Given the description of an element on the screen output the (x, y) to click on. 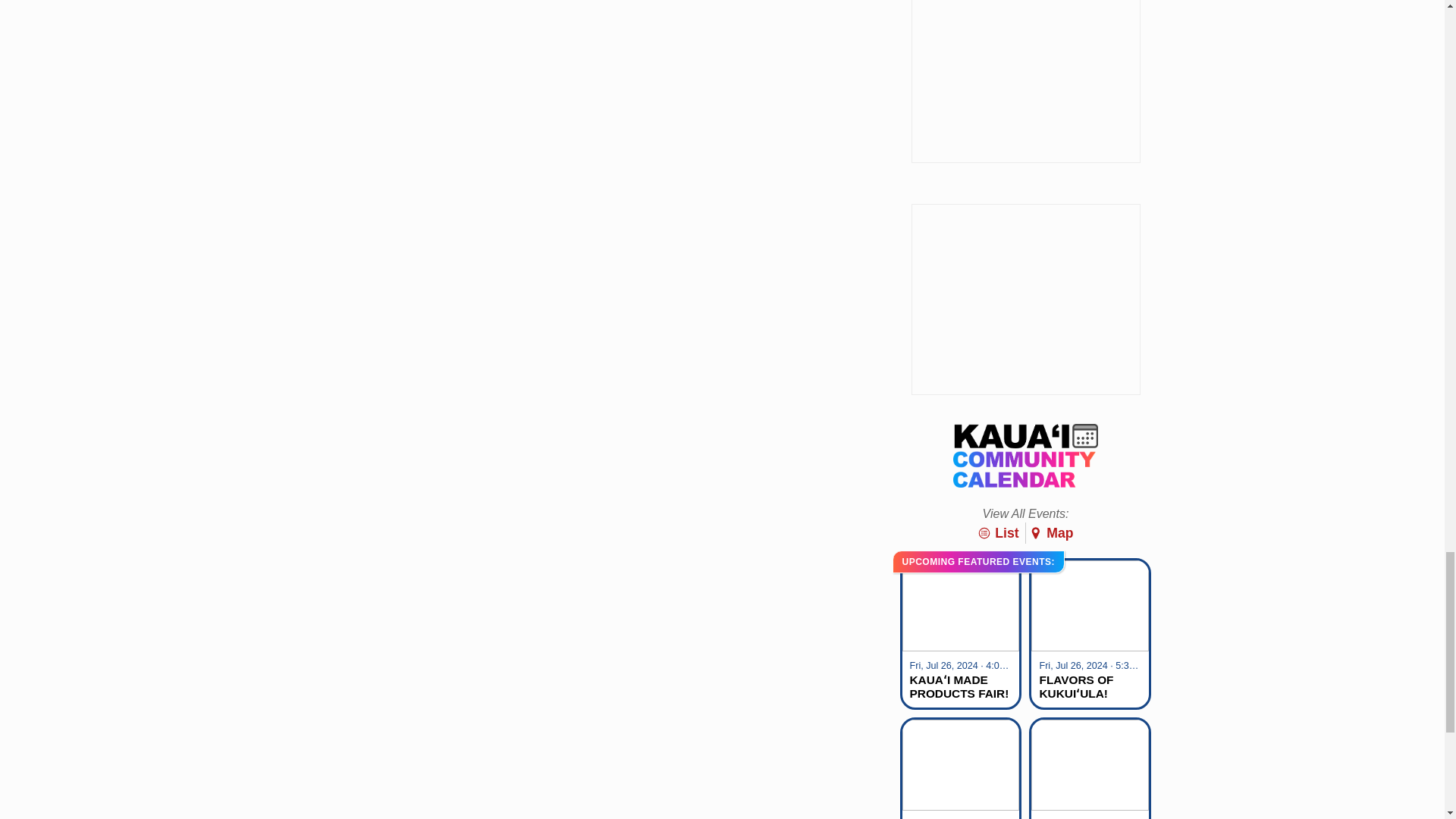
3rd party ad content (1025, 81)
3rd party ad content (1025, 298)
List Circle (983, 532)
